Given the description of an element on the screen output the (x, y) to click on. 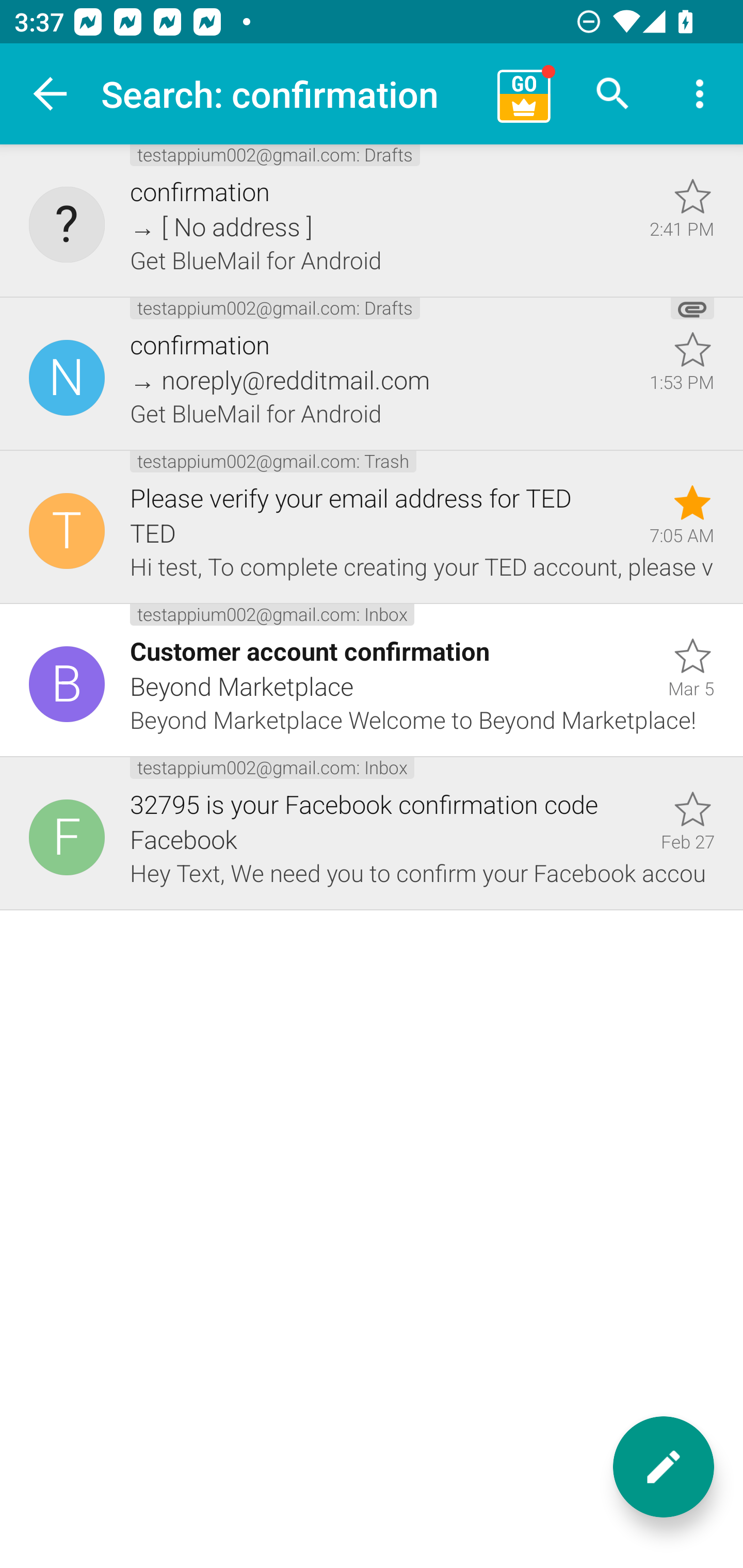
Navigate up (50, 93)
Search (612, 93)
More options (699, 93)
New message (663, 1466)
